Given the description of an element on the screen output the (x, y) to click on. 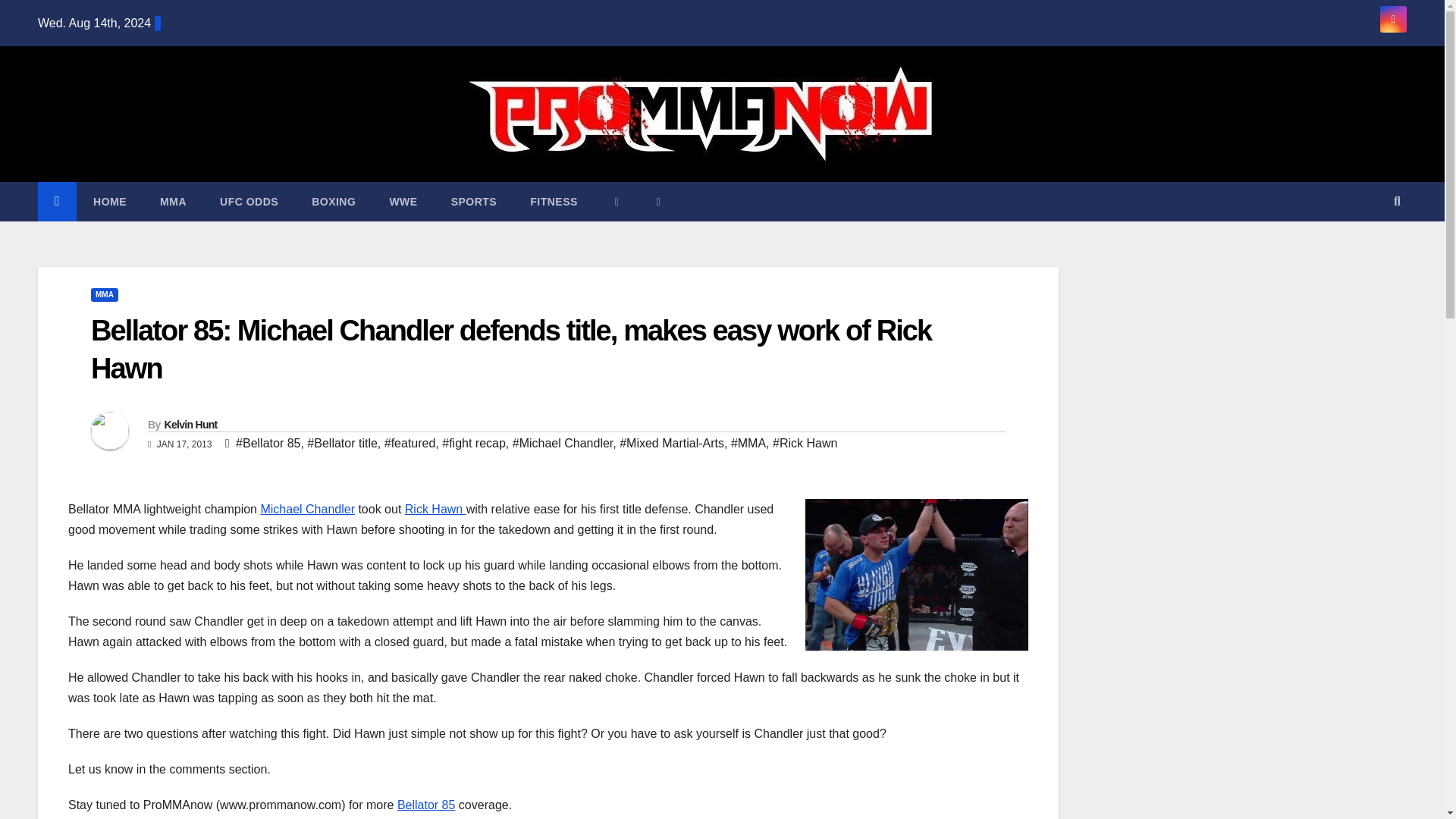
FITNESS (553, 201)
Boxing (333, 201)
Rick Hawn (434, 508)
SPORTS (473, 201)
Michael Chandler (307, 508)
Home (109, 201)
Kelvin Hunt (189, 424)
MMA (172, 201)
MMA (103, 295)
